Given the description of an element on the screen output the (x, y) to click on. 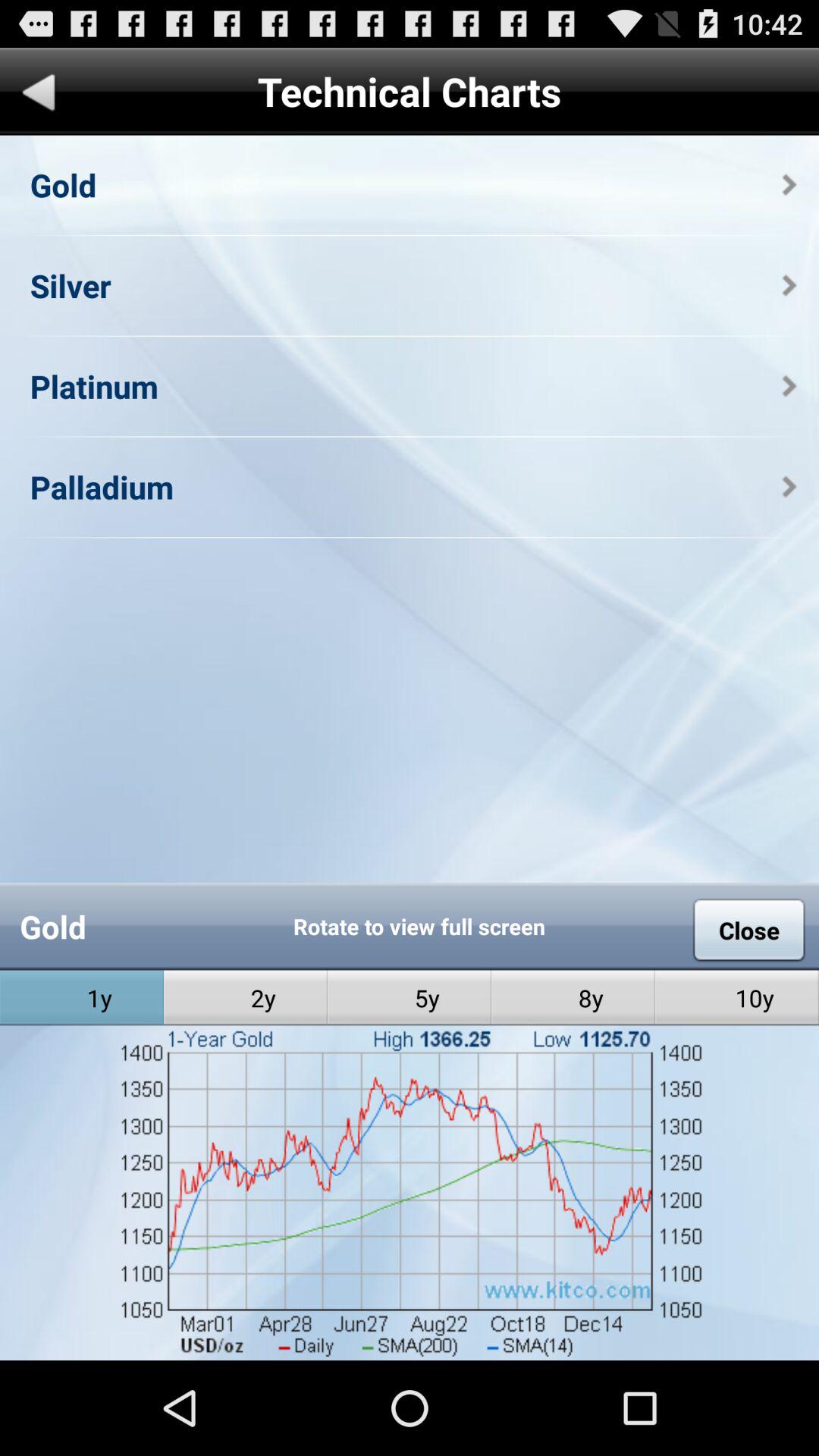
back page button (39, 95)
